Given the description of an element on the screen output the (x, y) to click on. 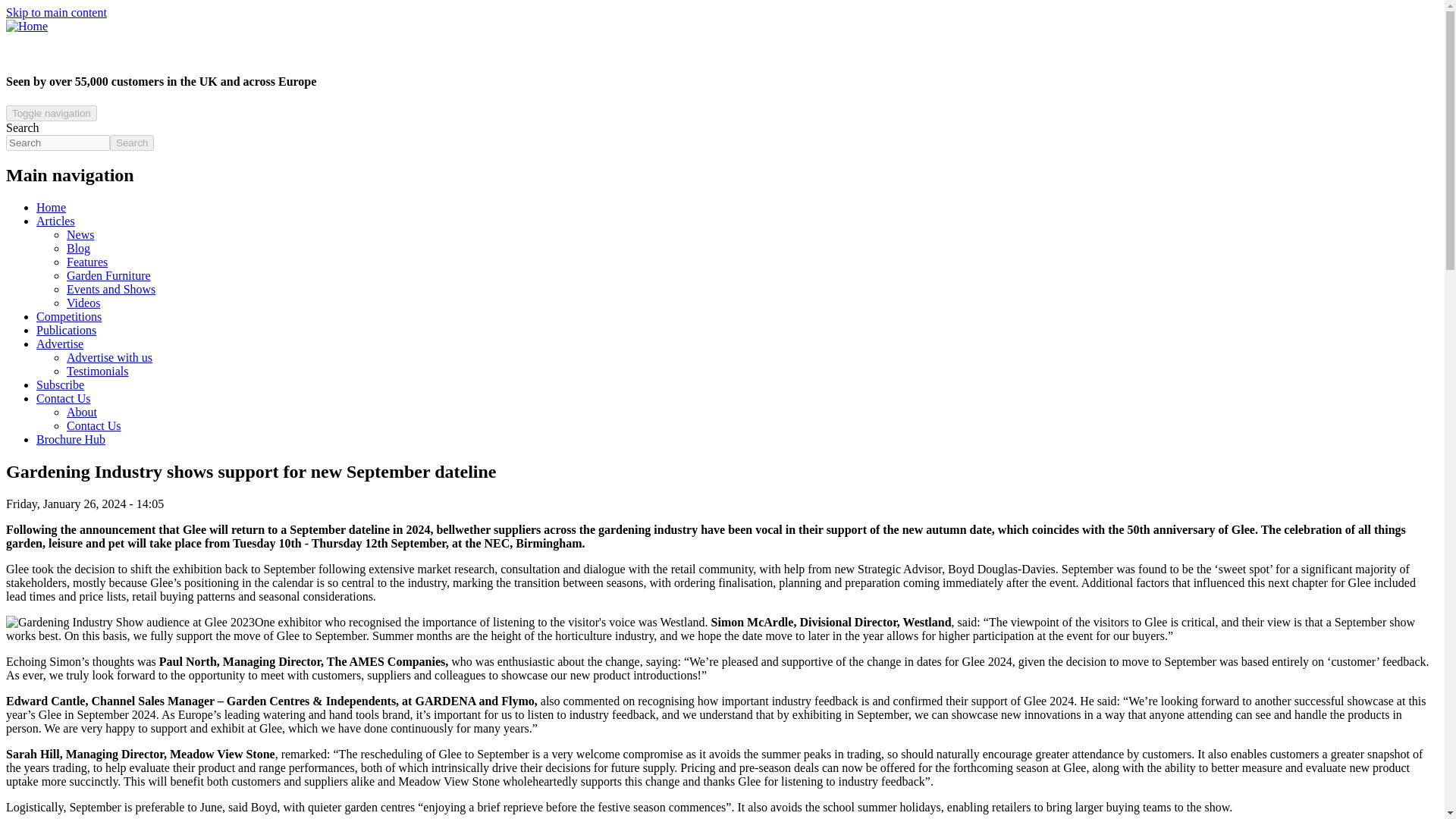
Home (26, 25)
Contact Us (63, 398)
Garden Furniture (108, 275)
Contact Us (93, 425)
News (80, 234)
Articles (55, 220)
Videos (83, 302)
Features (86, 261)
Publications (66, 329)
Search (132, 142)
